Given the description of an element on the screen output the (x, y) to click on. 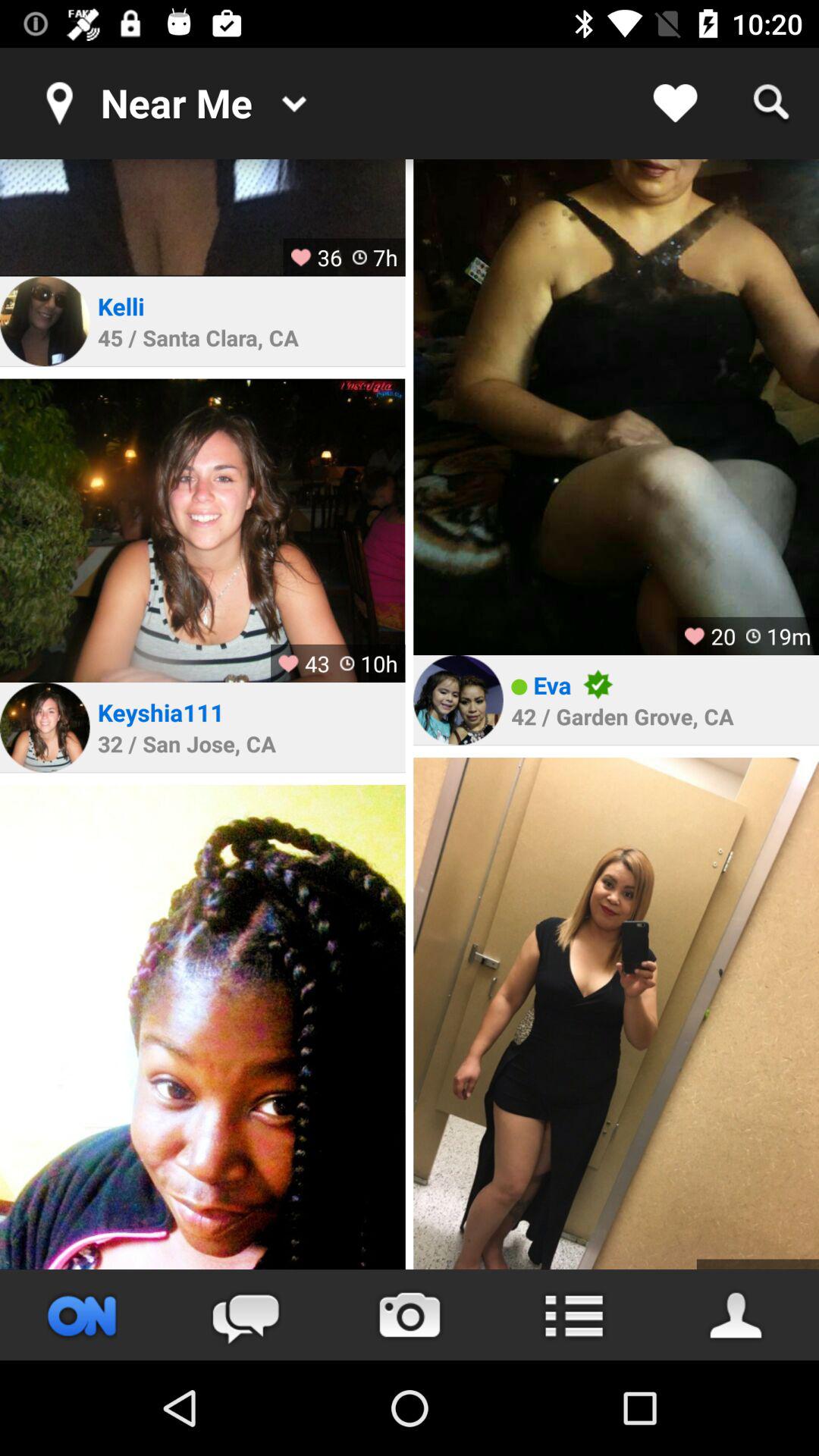
profile (458, 700)
